Given the description of an element on the screen output the (x, y) to click on. 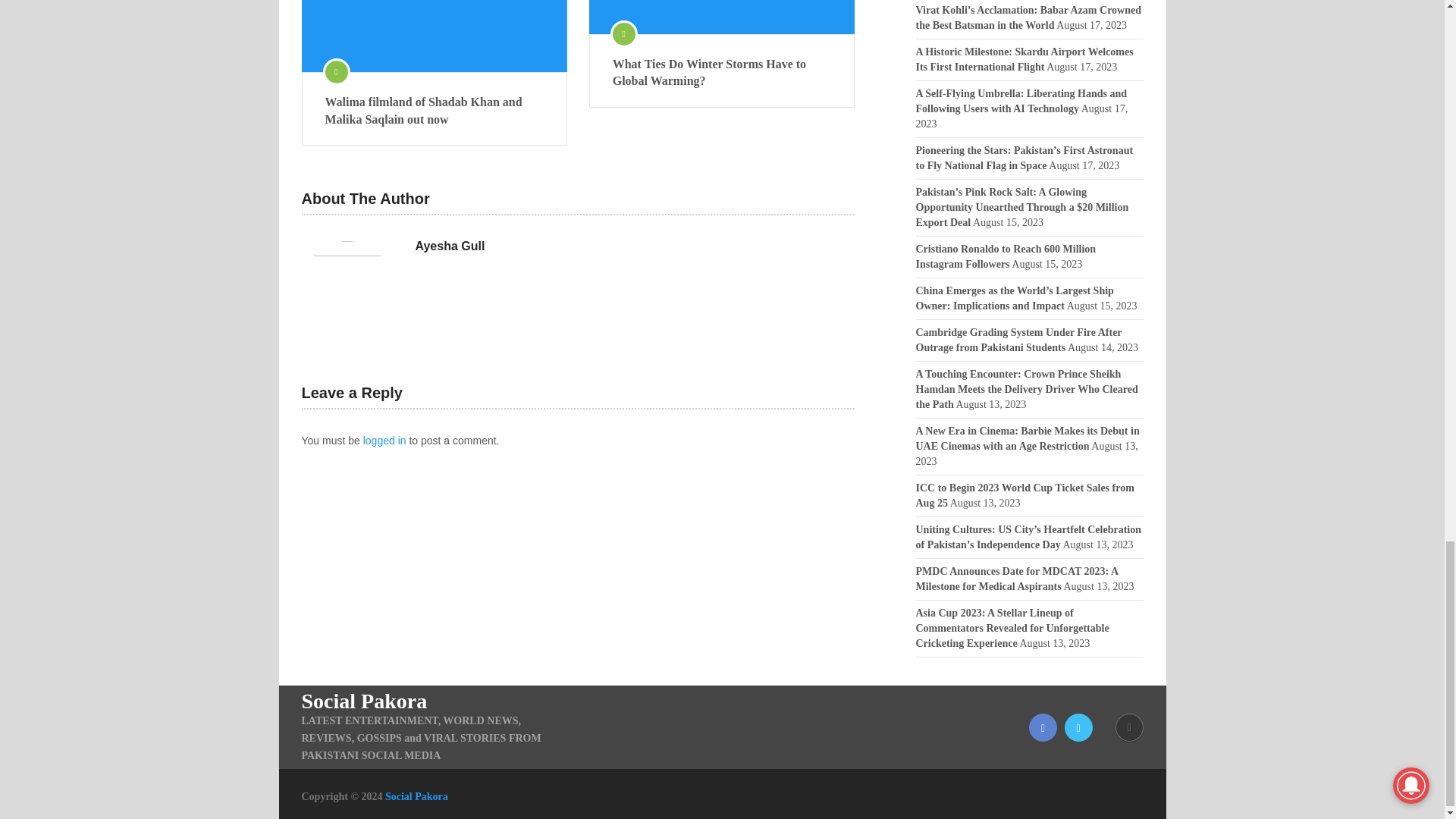
What Ties Do Winter Storms Have to Global Warming? (721, 73)
Walima filmland of Shadab Khan and Malika Saqlain out now (434, 36)
What Ties Do Winter Storms Have to Global Warming? (721, 17)
logged in (384, 440)
Walima filmland of Shadab Khan and Malika Saqlain out now (433, 110)
Walima filmland of Shadab Khan and Malika Saqlain out now (433, 110)
Ayesha Gull (449, 246)
What Ties Do Winter Storms Have to Global Warming? (721, 73)
